Given the description of an element on the screen output the (x, y) to click on. 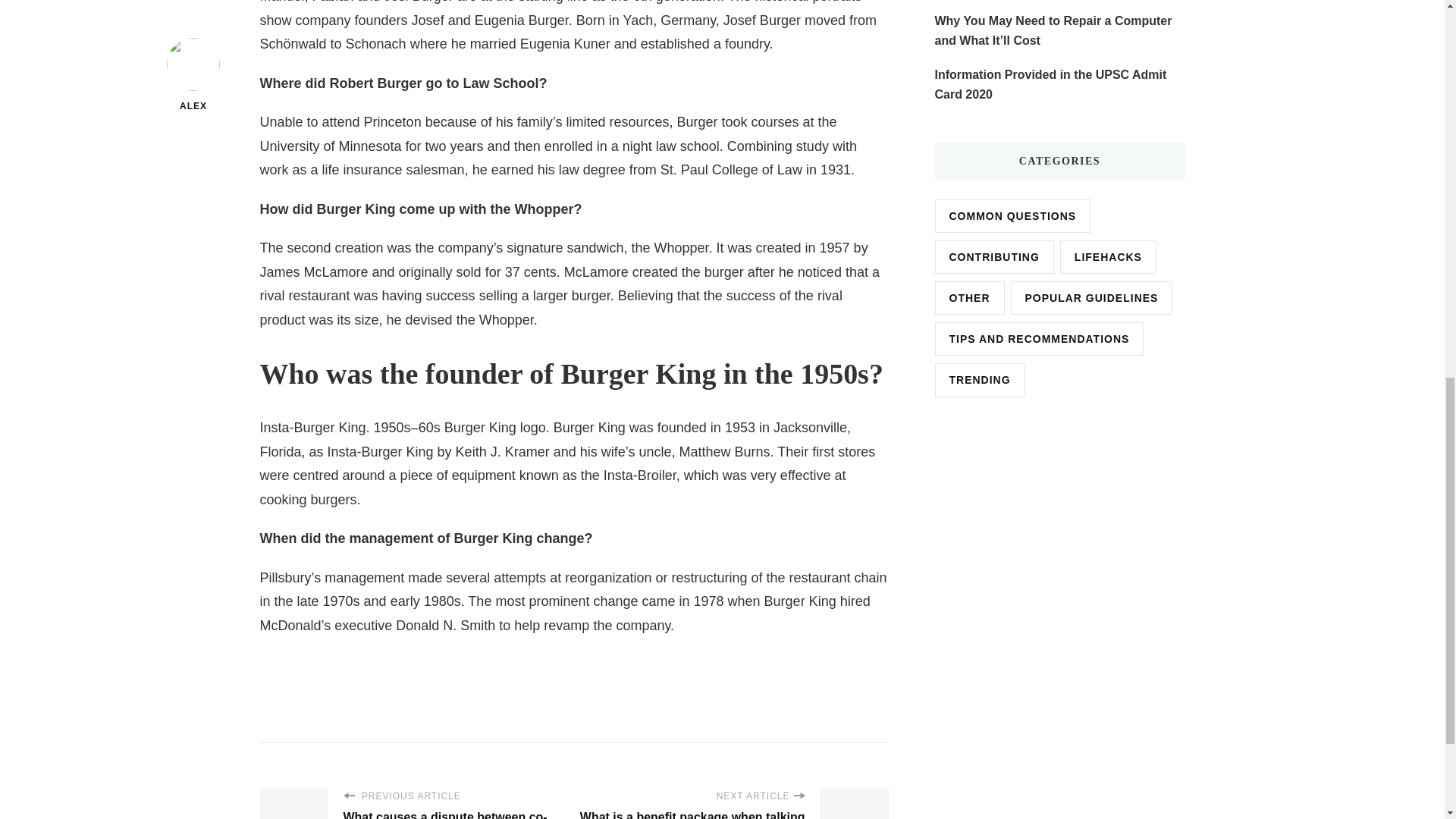
CONTRIBUTING (993, 256)
OTHER (969, 297)
LIFEHACKS (1107, 256)
Information Provided in the UPSC Admit Card 2020 (1059, 84)
COMMON QUESTIONS (1012, 215)
